Given the description of an element on the screen output the (x, y) to click on. 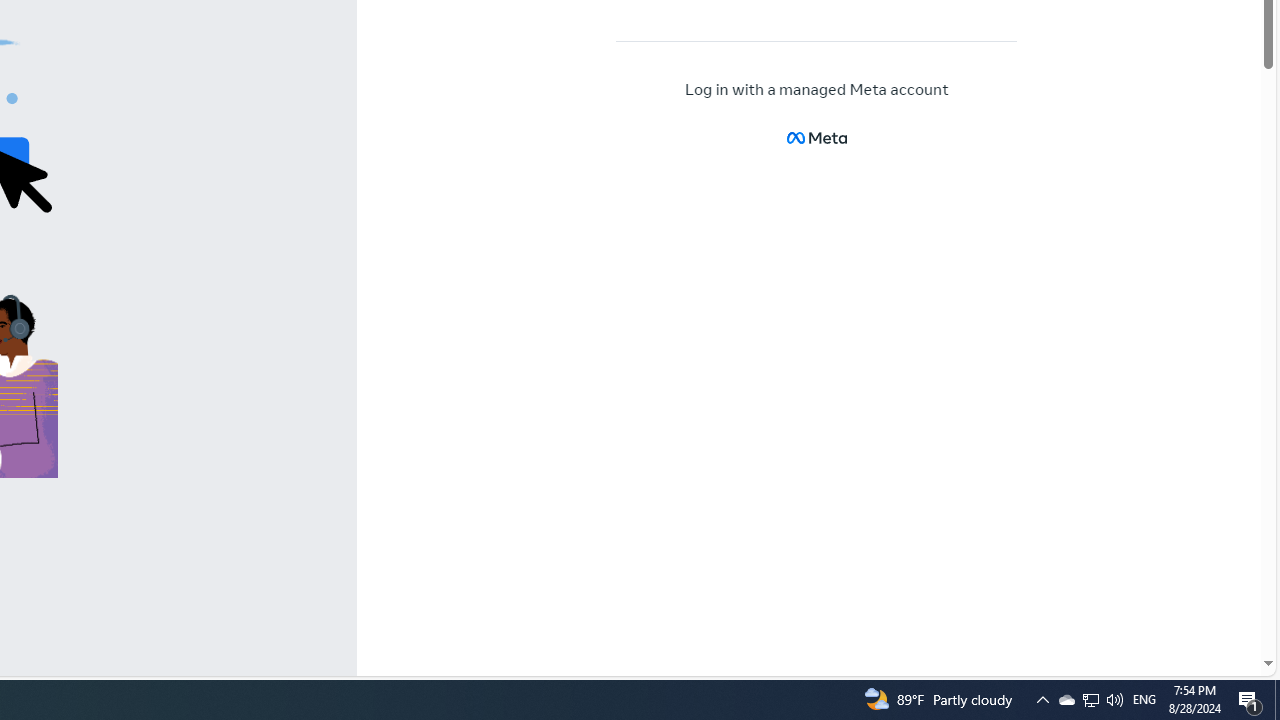
Log in with a managed Meta account (817, 90)
Meta logo (816, 137)
